Given the description of an element on the screen output the (x, y) to click on. 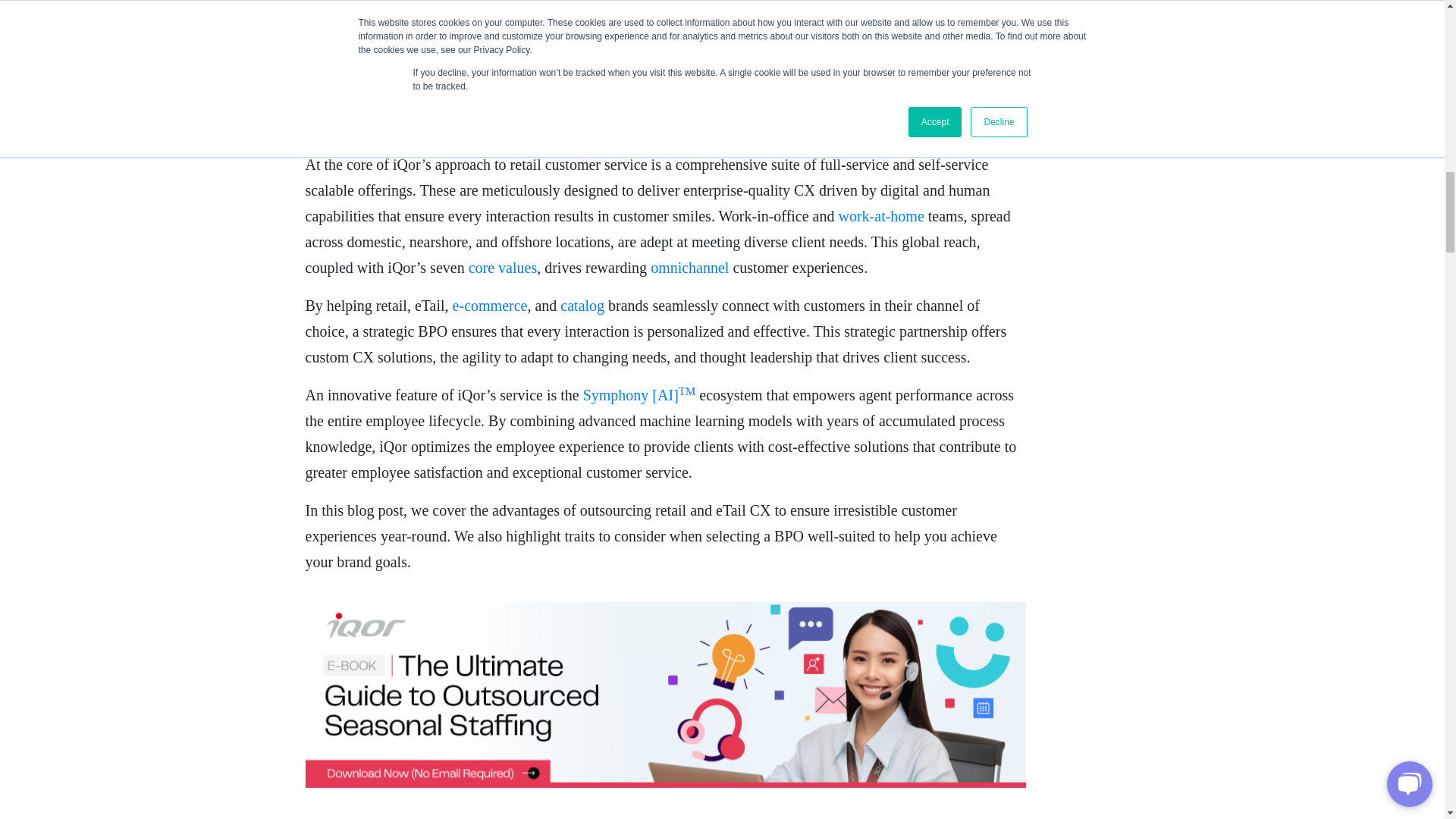
Embedded CTA (664, 694)
Embedded CTA (664, 60)
